Given the description of an element on the screen output the (x, y) to click on. 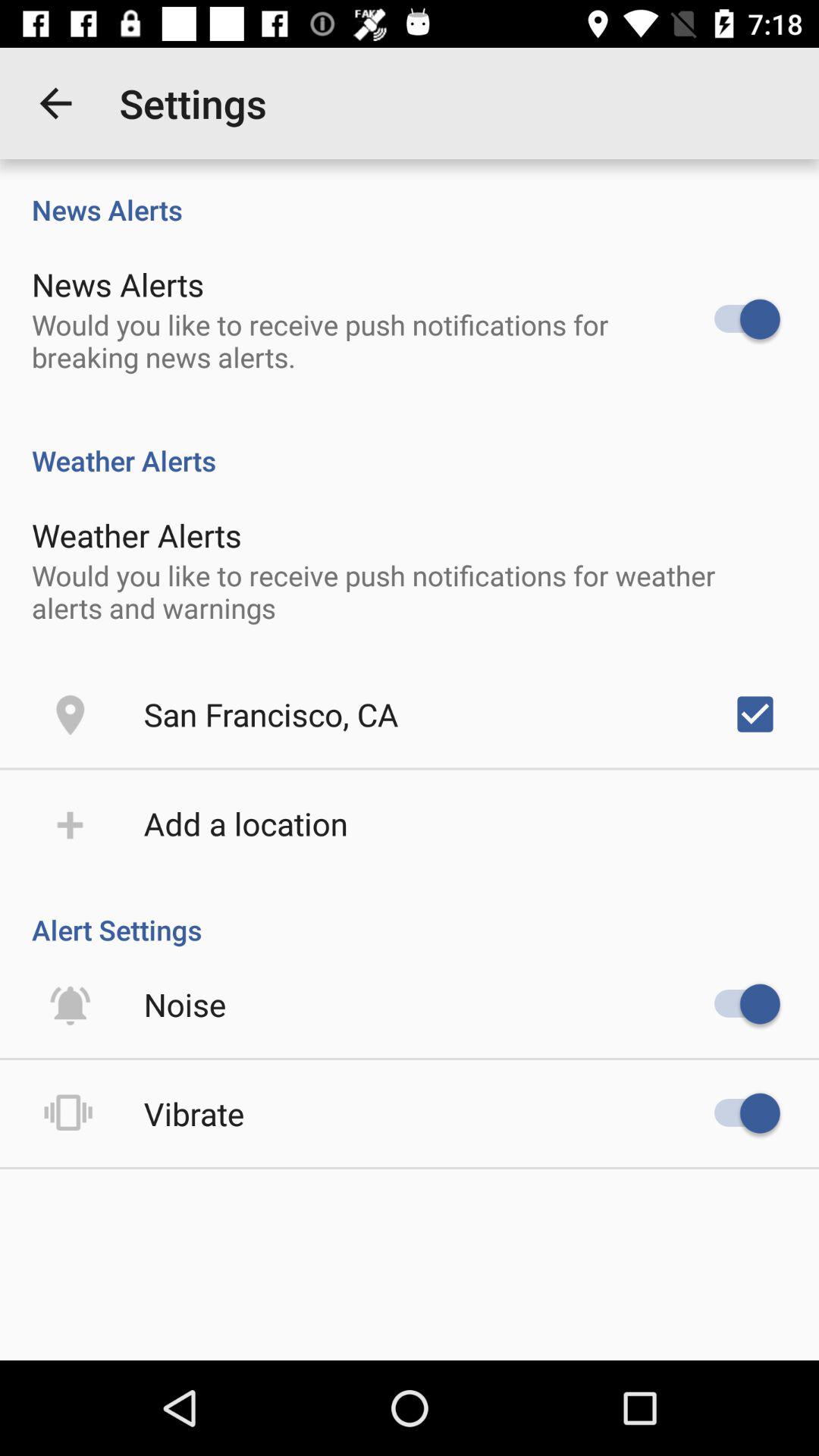
launch the icon above vibrate item (184, 1004)
